Given the description of an element on the screen output the (x, y) to click on. 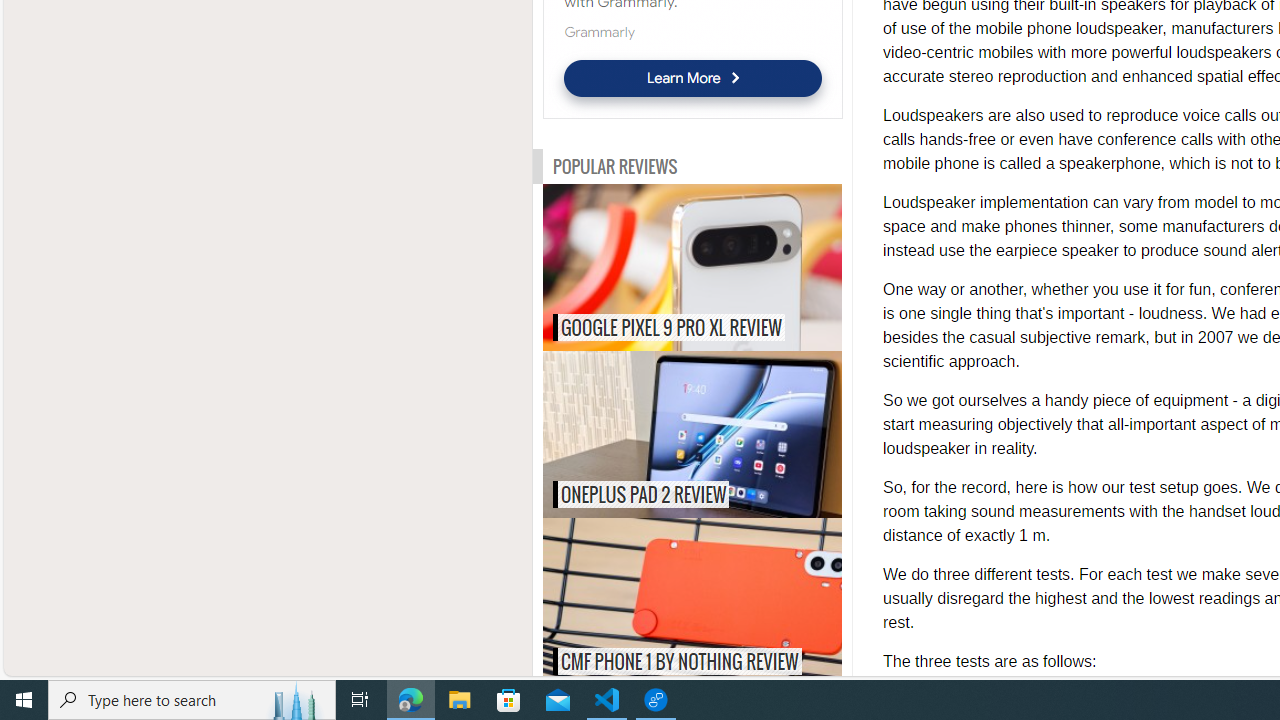
Google Pixel 9 Pro XL review GOOGLE PIXEL 9 PRO XL REVIEW (692, 267)
Grammarly (598, 31)
CMF Phone 1 by Nothing review CMF PHONE 1 BY NOTHING REVIEW (692, 600)
Google Pixel 9 Pro XL review (734, 267)
CMF Phone 1 by Nothing review (734, 600)
OnePlus Pad 2 review ONEPLUS PAD 2 REVIEW (692, 434)
Learn More (692, 78)
OnePlus Pad 2 review (734, 434)
